Given the description of an element on the screen output the (x, y) to click on. 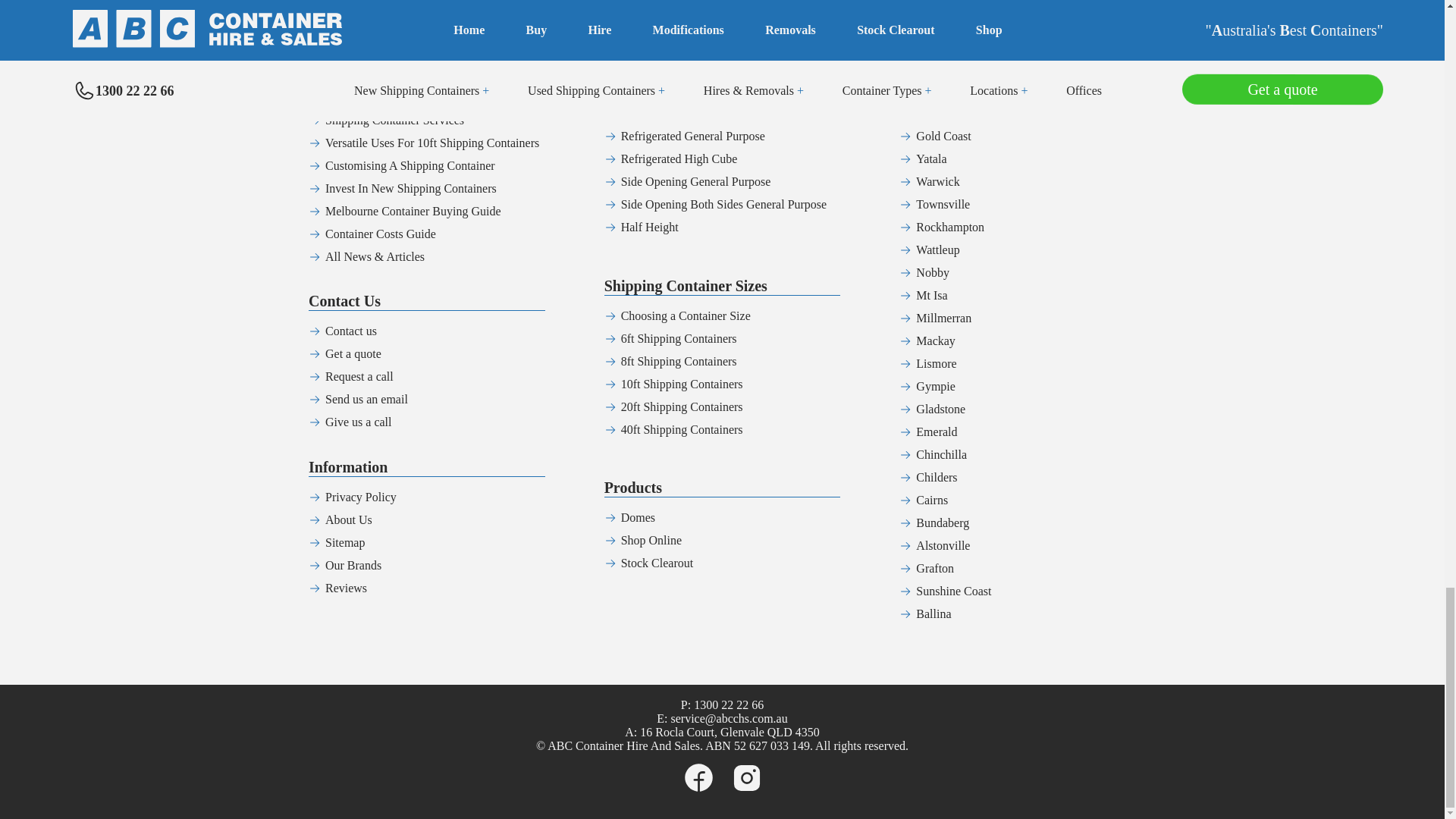
Shipping Container Dimensions (402, 29)
Shipping Container Grading (393, 51)
